Given the description of an element on the screen output the (x, y) to click on. 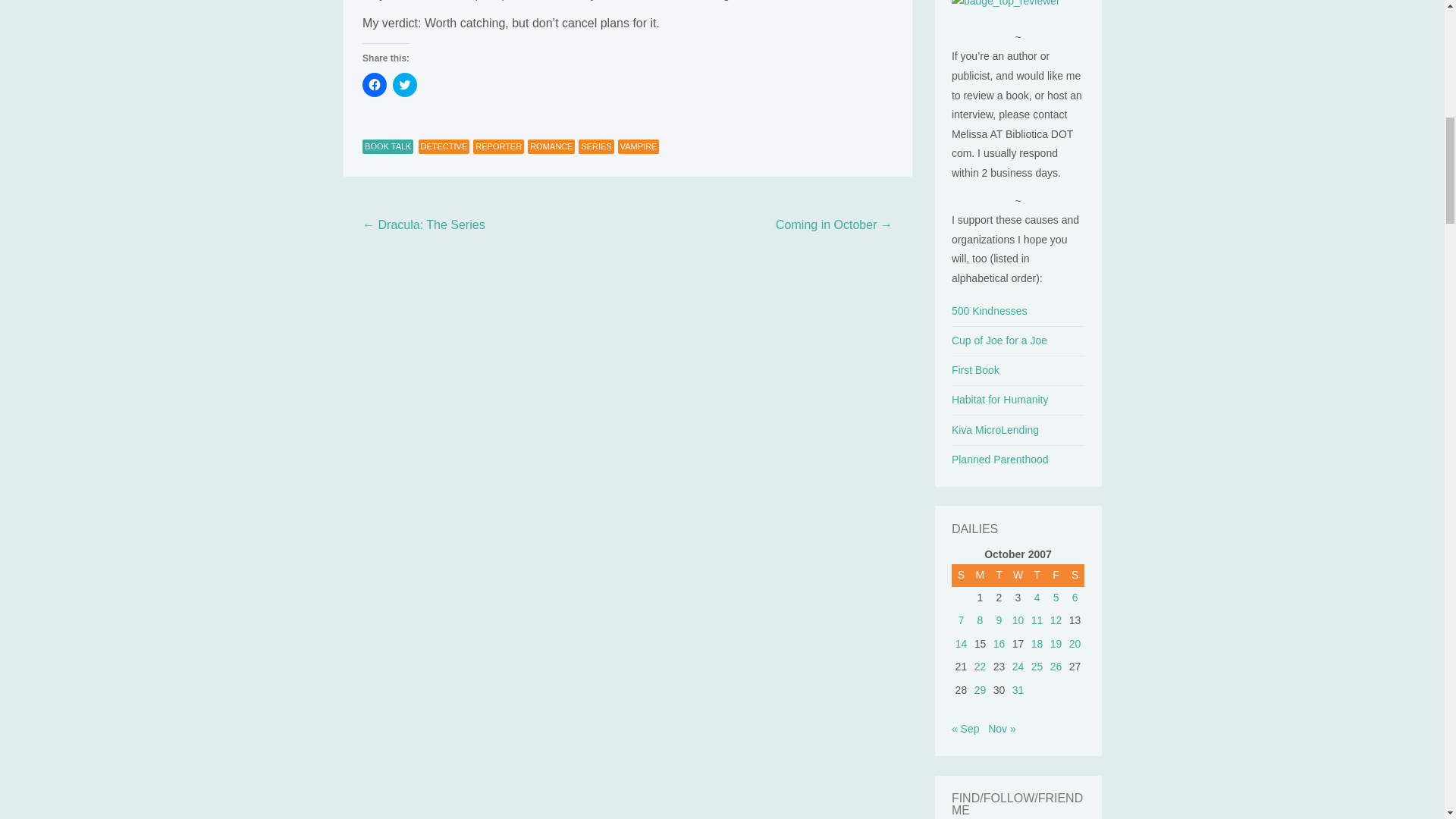
REPORTER (498, 146)
VAMPIRE (638, 146)
SERIES (595, 146)
BOOK TALK (387, 146)
Friday (1055, 575)
DETECTIVE (444, 146)
Tuesday (999, 575)
Saturday (1074, 575)
Wednesday (1018, 575)
Click to share on Twitter (404, 84)
Monday (980, 575)
Thursday (1036, 575)
Sunday (961, 575)
ROMANCE (551, 146)
Click to share on Facebook (374, 84)
